Given the description of an element on the screen output the (x, y) to click on. 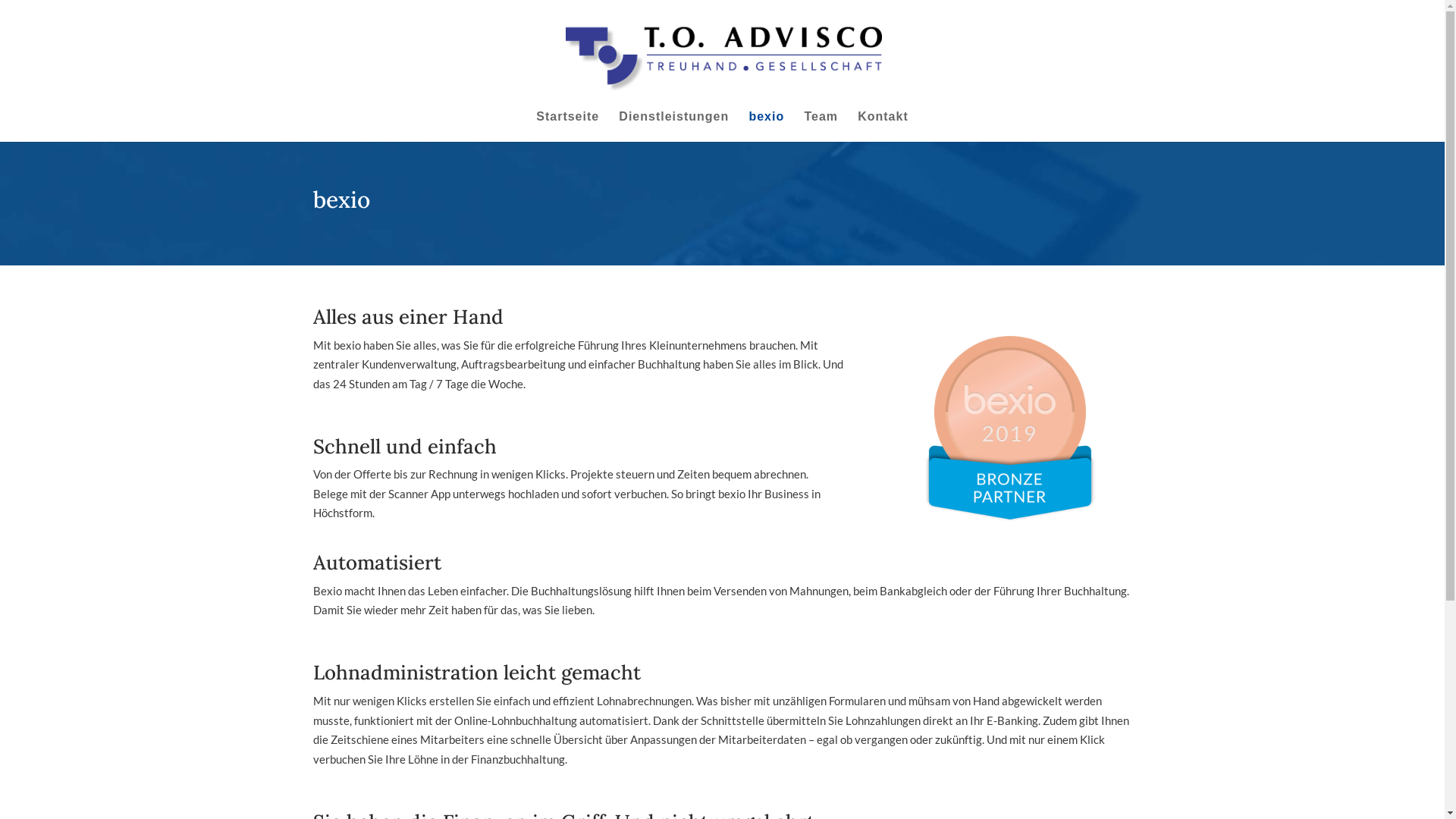
Kontakt Element type: text (882, 126)
Startseite Element type: text (567, 126)
Team Element type: text (820, 126)
bexio Element type: text (766, 126)
Dienstleistungen Element type: text (673, 126)
